Given the description of an element on the screen output the (x, y) to click on. 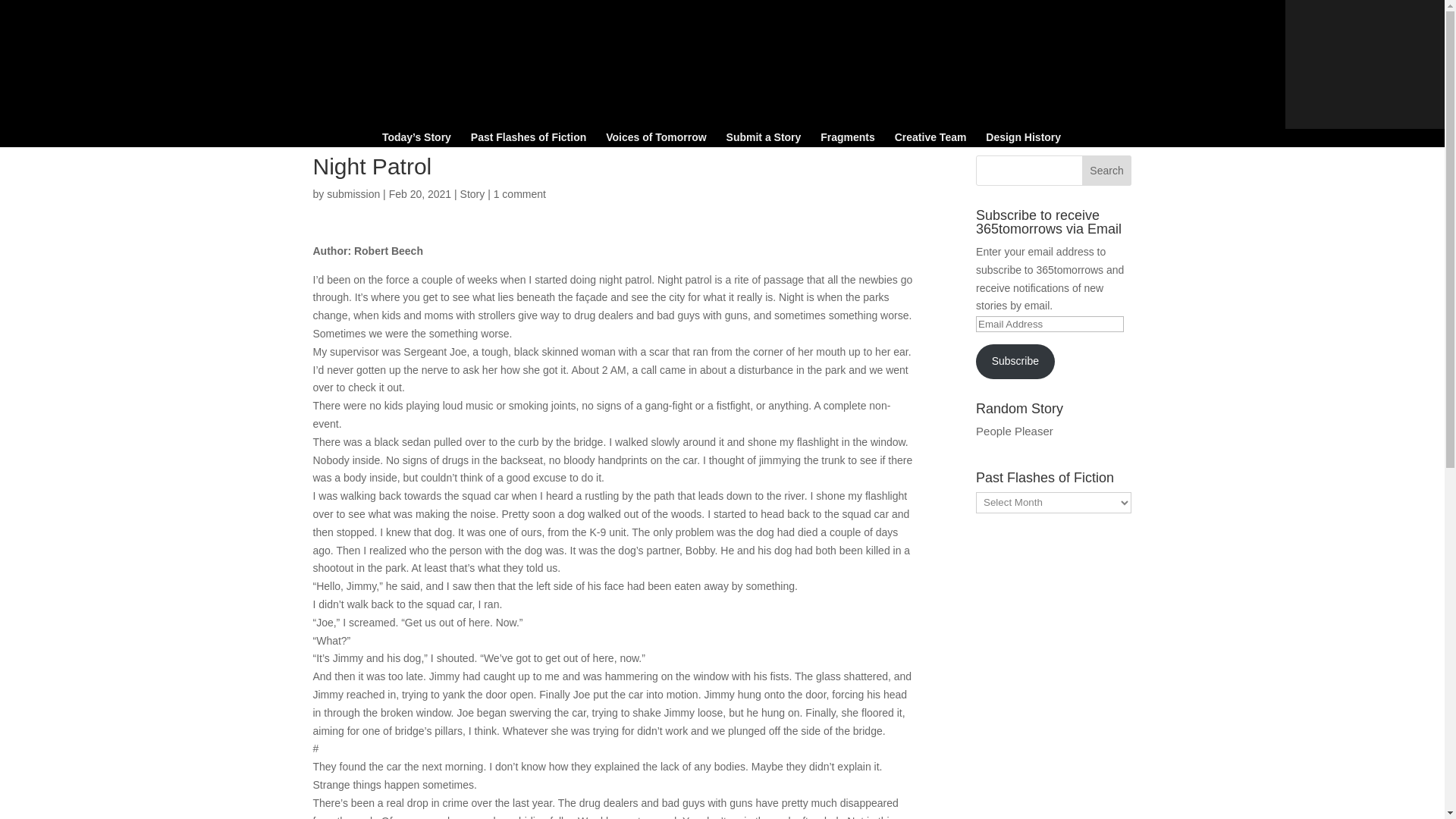
Search (1106, 170)
Creative Team (930, 139)
Subscribe (1014, 361)
Story (472, 193)
Design History (1023, 139)
Fragments (848, 139)
Voices of Tomorrow (655, 139)
Search (1106, 170)
Submit a Story (764, 139)
People Pleaser (1013, 431)
submission (353, 193)
Past Flashes of Fiction (528, 139)
Posts by submission (353, 193)
1 comment (519, 193)
